Given the description of an element on the screen output the (x, y) to click on. 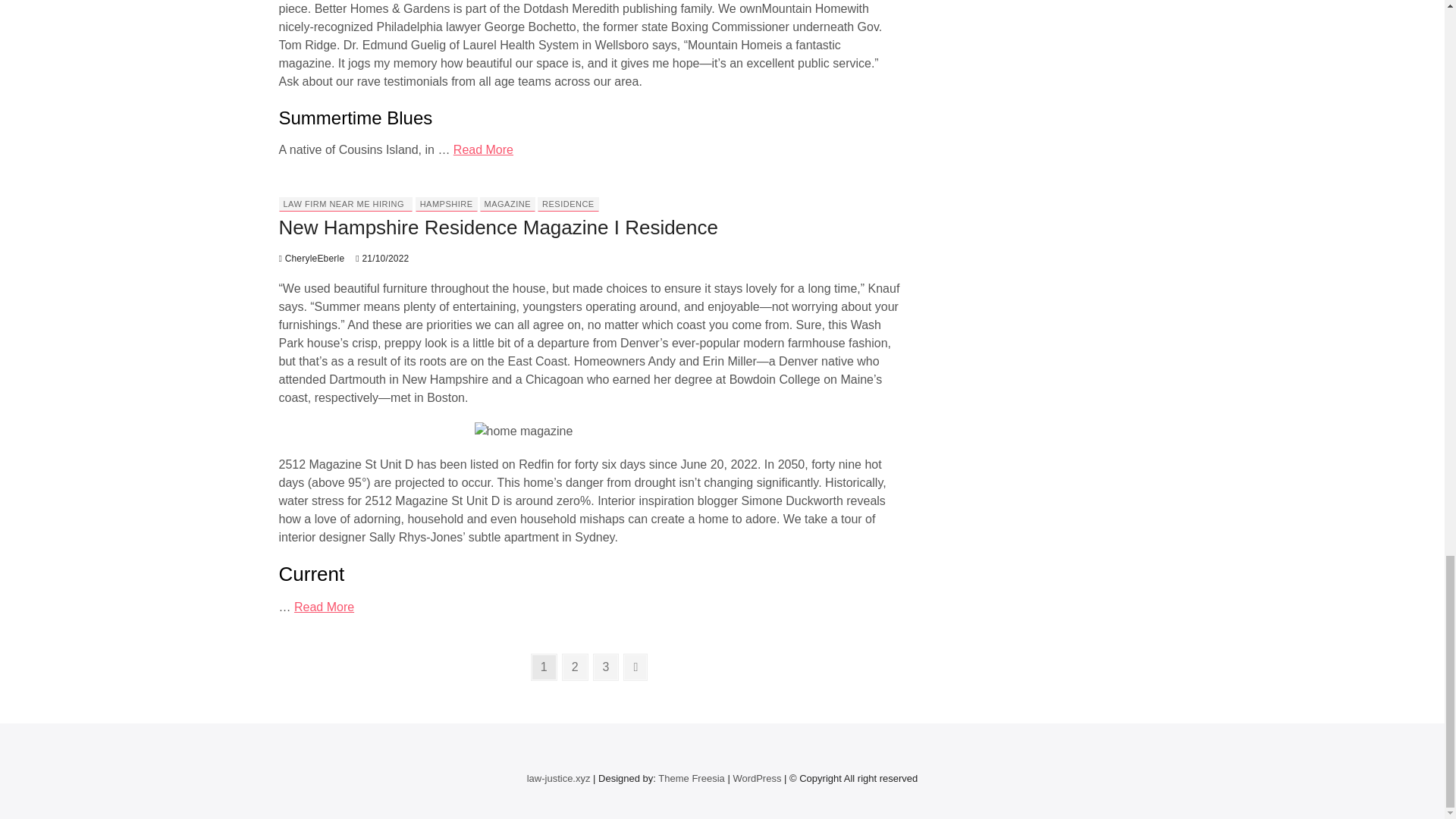
law-justice.xyz (559, 778)
New Hampshire Residence Magazine I Residence (499, 227)
New Hampshire Residence Magazine I Residence (312, 258)
